Given the description of an element on the screen output the (x, y) to click on. 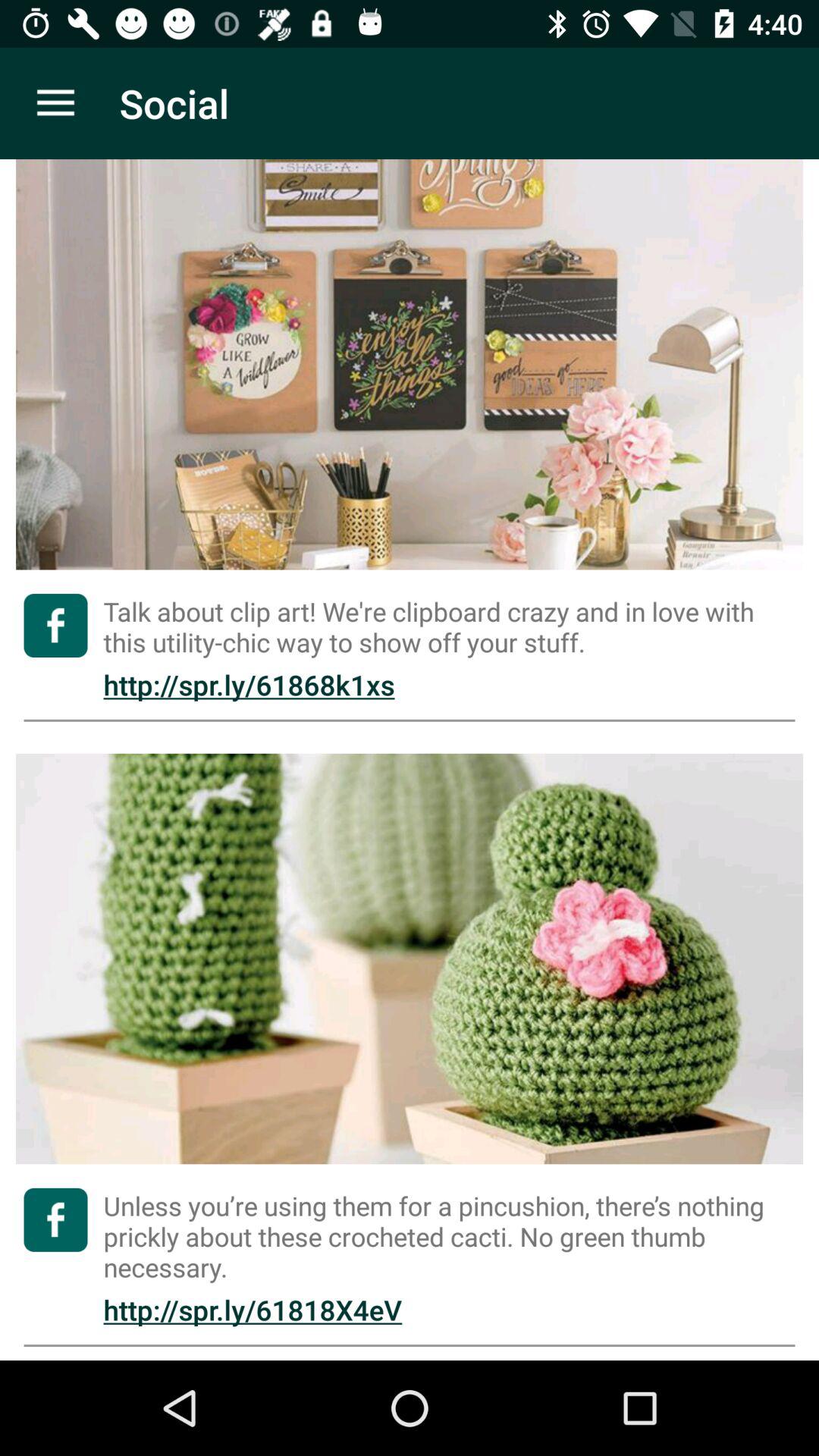
turn off item to the left of social (55, 103)
